Given the description of an element on the screen output the (x, y) to click on. 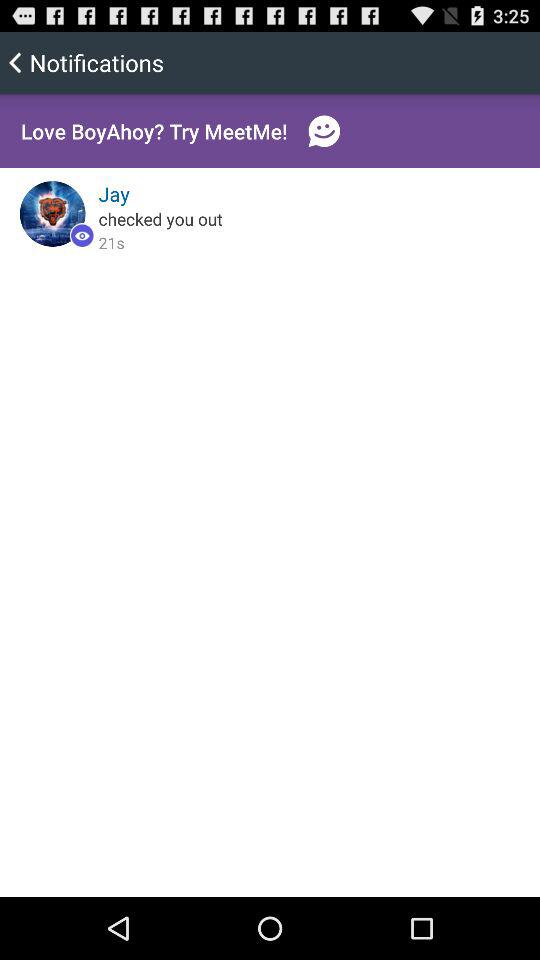
open checked you out app (160, 218)
